Given the description of an element on the screen output the (x, y) to click on. 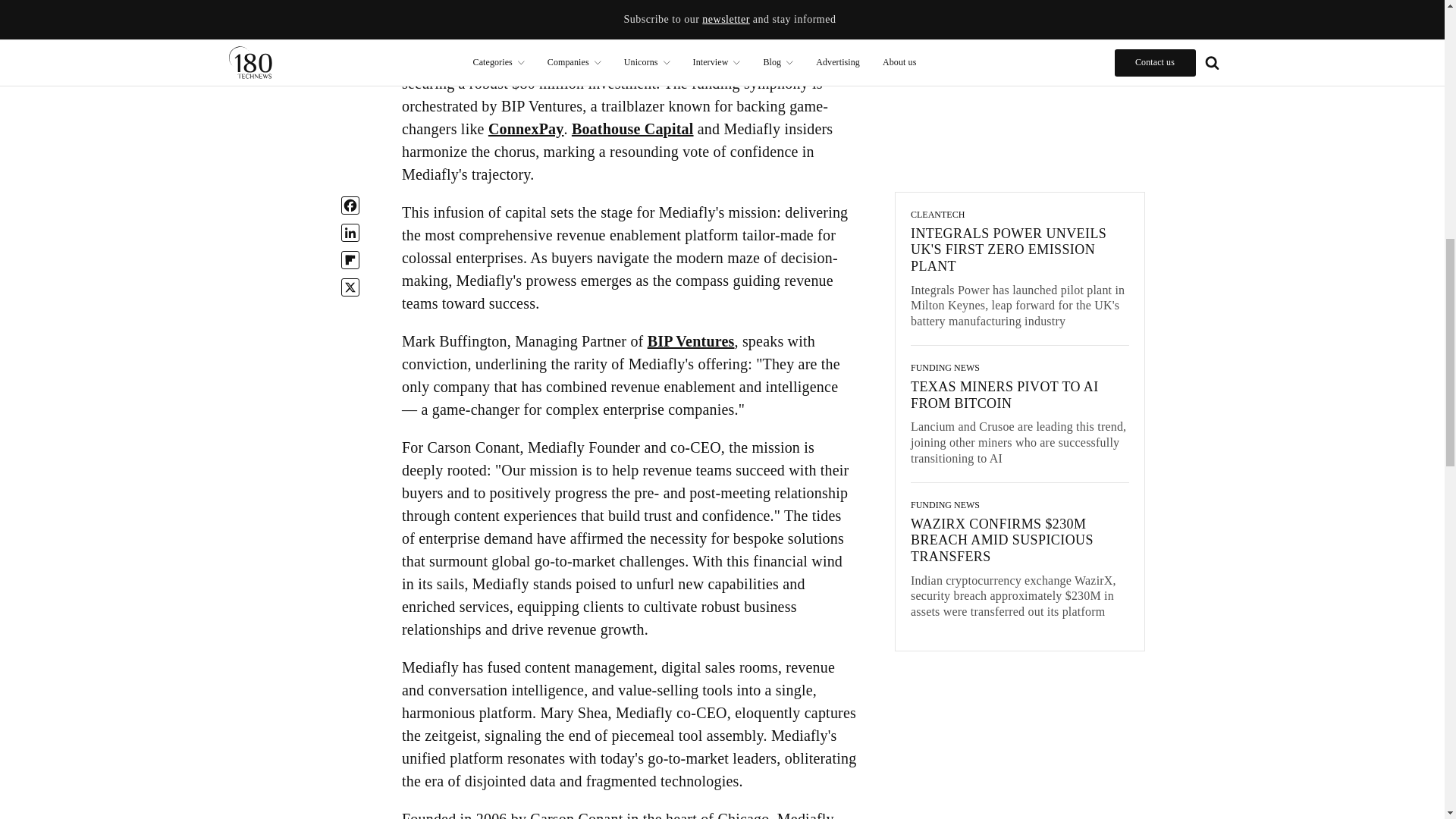
X (349, 1)
